Given the description of an element on the screen output the (x, y) to click on. 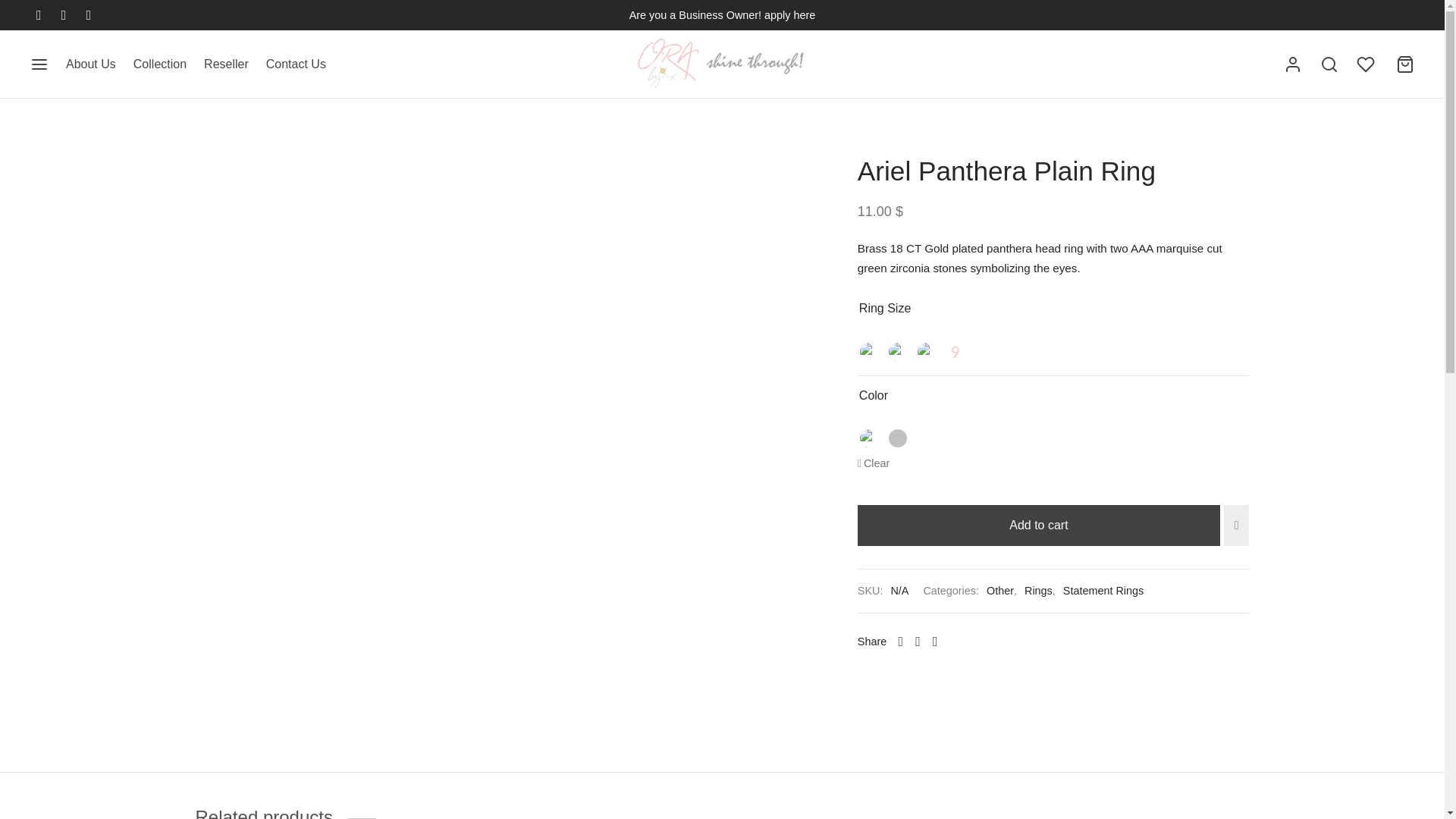
Collection (159, 64)
7 (897, 351)
Gold (868, 437)
9 (954, 351)
Are you a Business Owner! apply here (721, 15)
6 (868, 351)
Silver (897, 437)
About Us (90, 64)
8 (926, 351)
